Given the description of an element on the screen output the (x, y) to click on. 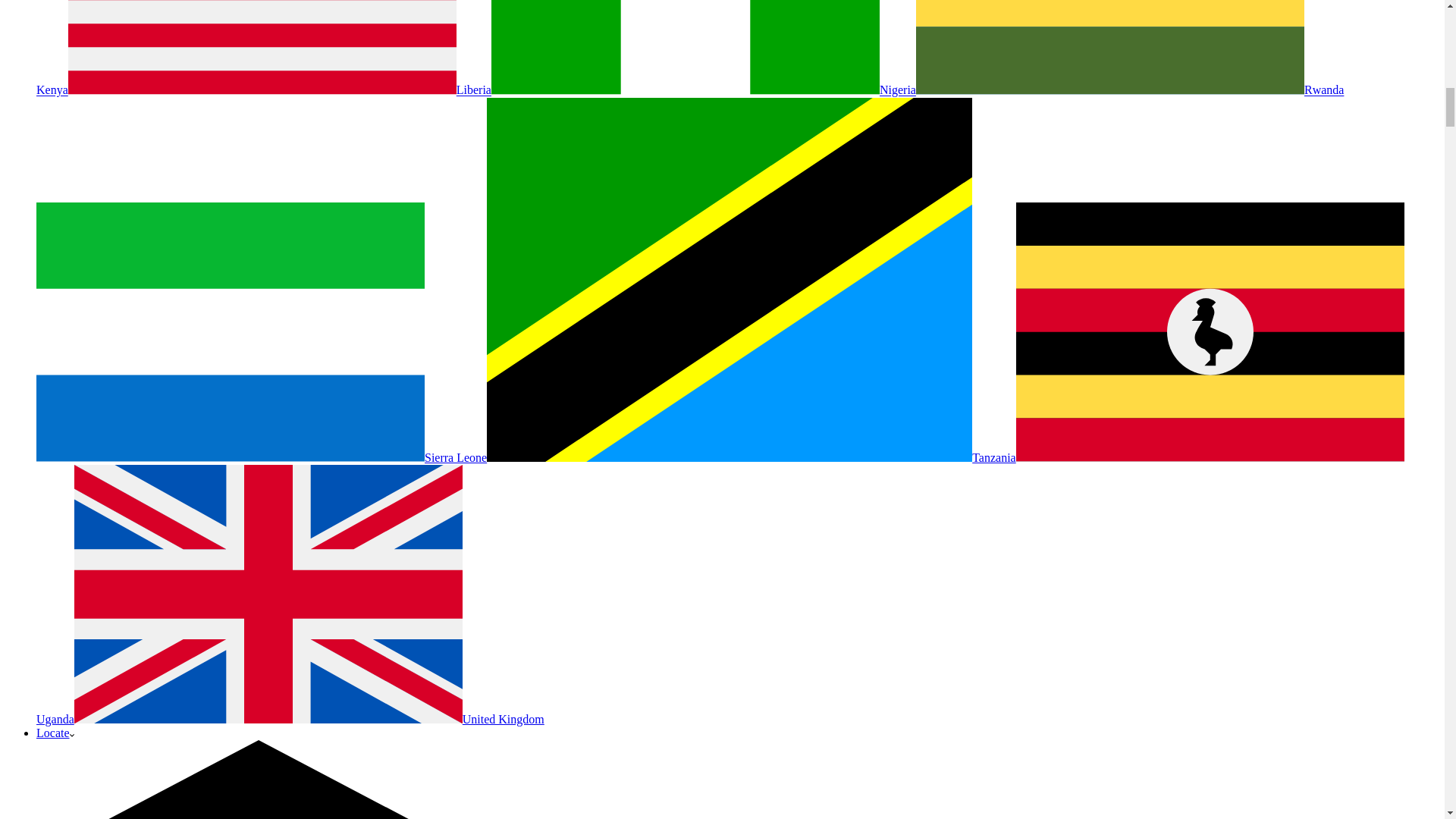
Locate (55, 732)
Sierra Leone (261, 457)
Liberia (280, 90)
Rwanda (1129, 90)
United Kingdom (309, 718)
Tanzania (751, 457)
Nigeria (703, 90)
